Given the description of an element on the screen output the (x, y) to click on. 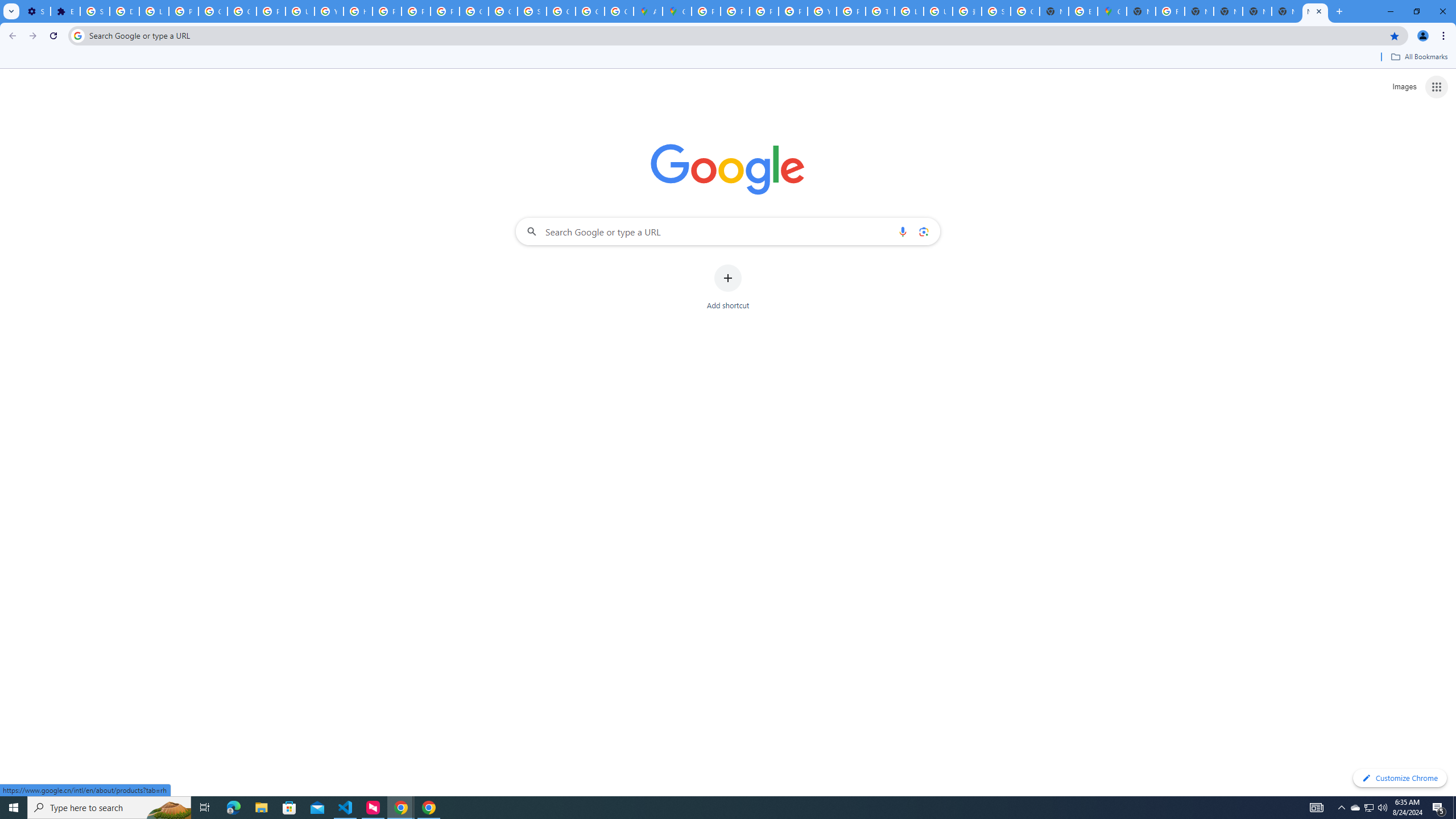
Settings - On startup (35, 11)
Create your Google Account (619, 11)
Google Account Help (212, 11)
YouTube (821, 11)
Privacy Help Center - Policies Help (386, 11)
https://scholar.google.com/ (357, 11)
